Given the description of an element on the screen output the (x, y) to click on. 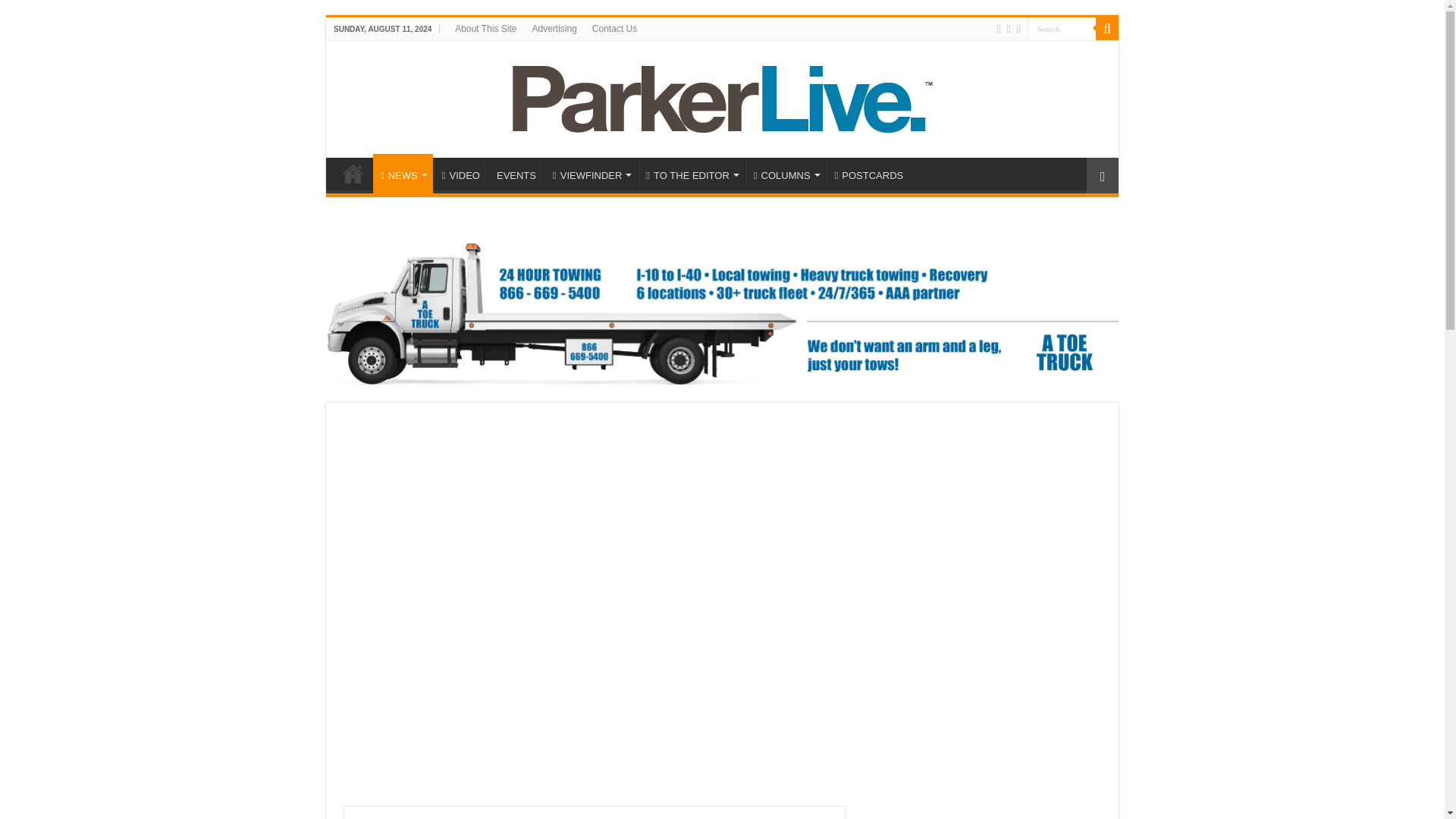
EVENTS (515, 173)
VIDEO (460, 173)
Search (1107, 28)
About This Site (485, 28)
NEWS (402, 173)
Search (1061, 28)
Search (1061, 28)
Advertising (553, 28)
Search (1061, 28)
VIEWFINDER (590, 173)
